Given the description of an element on the screen output the (x, y) to click on. 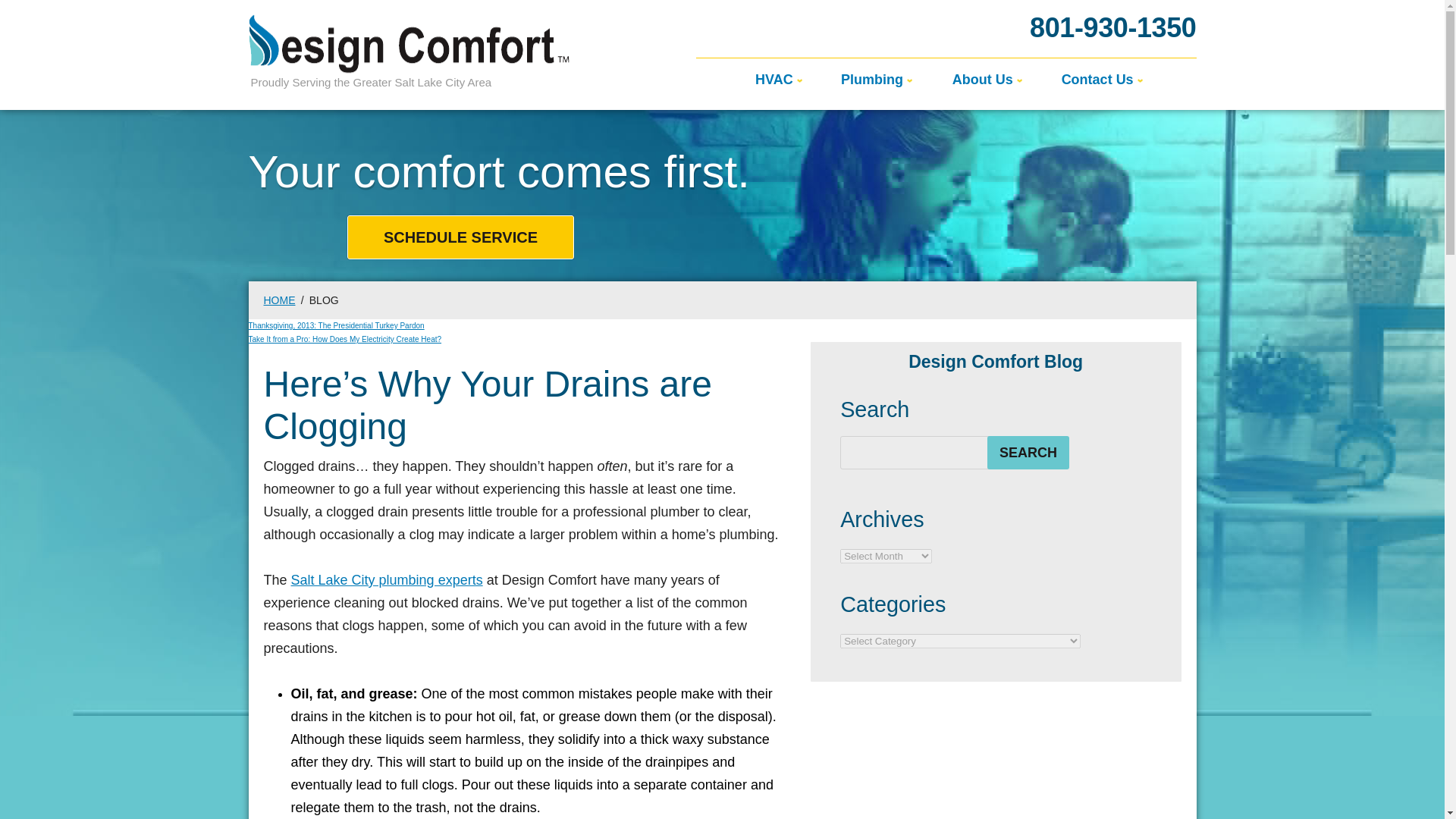
HVAC (776, 83)
Plumbing (874, 83)
801-930-1350 (1112, 27)
